Given the description of an element on the screen output the (x, y) to click on. 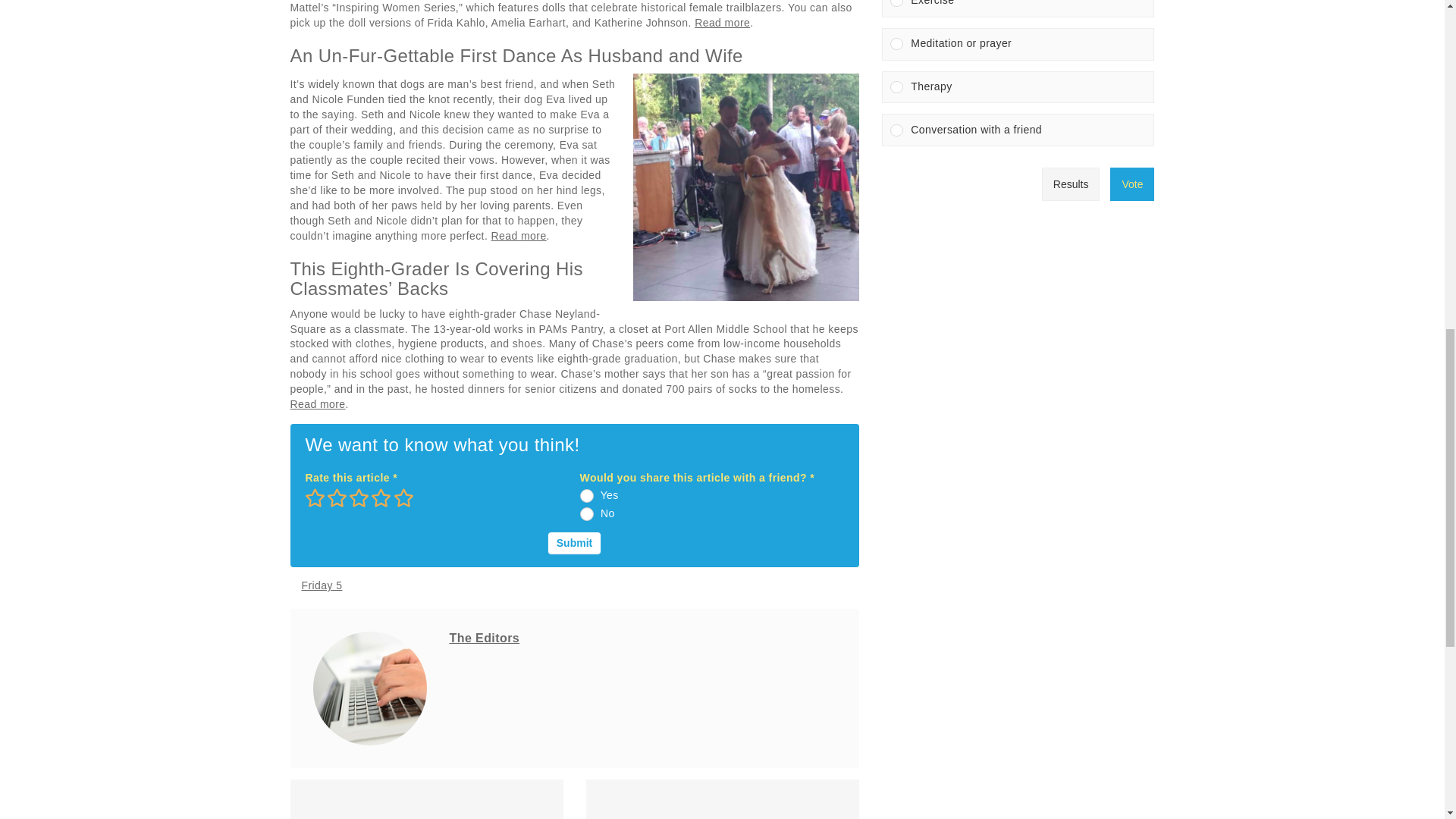
No (586, 513)
Read more (317, 404)
Yes (586, 495)
Read more (721, 22)
Submit (573, 542)
Friday 5 (321, 585)
Read more (519, 235)
The Editors (483, 637)
